Given the description of an element on the screen output the (x, y) to click on. 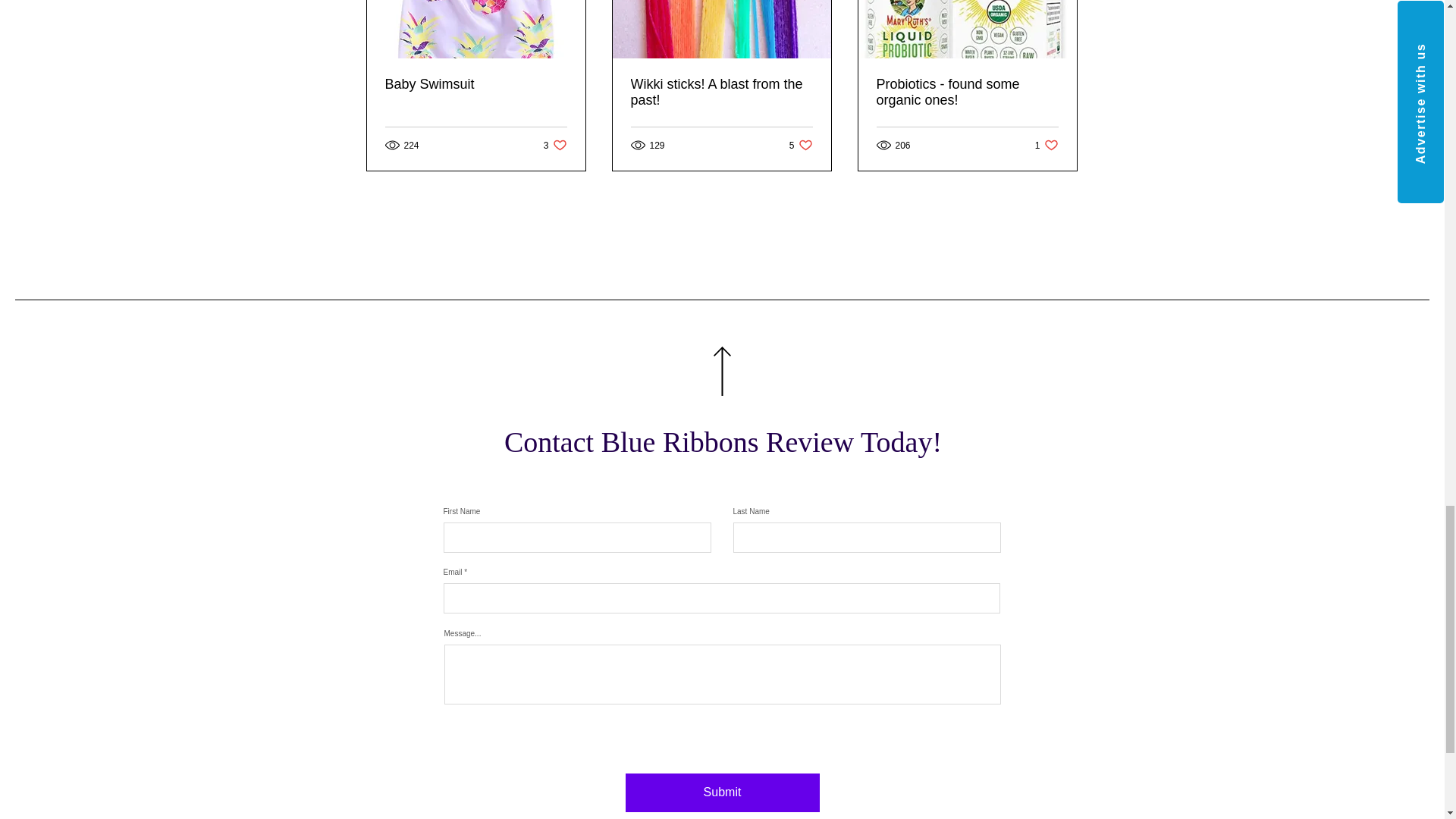
Probiotics - found some organic ones! (967, 92)
Baby Swimsuit (476, 84)
Submit (721, 792)
Wikki sticks! A blast from the past! (800, 145)
